Given the description of an element on the screen output the (x, y) to click on. 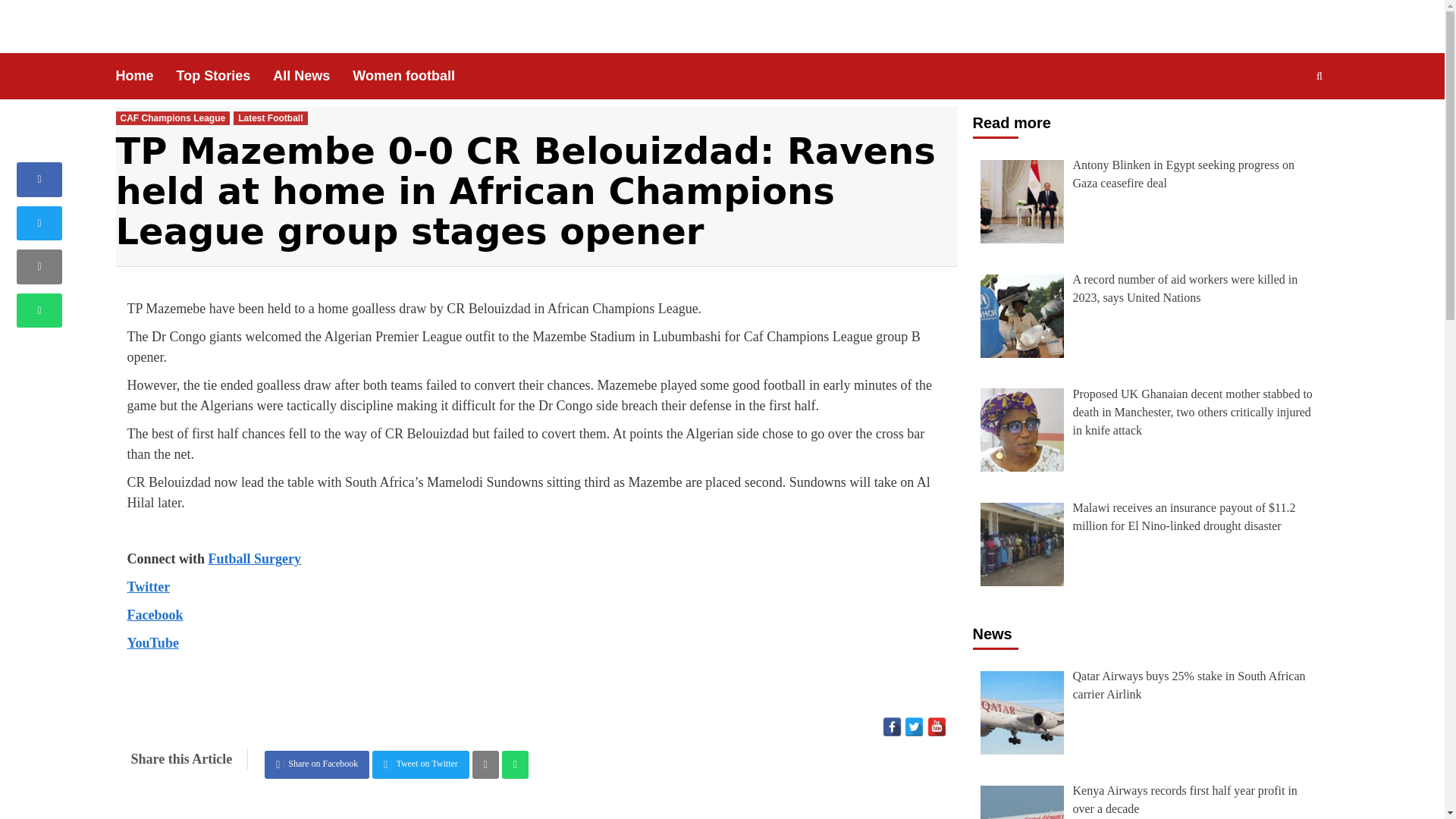
Top Stories (224, 76)
Women football (414, 76)
YouTube (935, 726)
Search (1283, 124)
CAF Champions League (172, 118)
Share by Email (485, 764)
All News (312, 76)
Futball Surgery (254, 558)
YouTube (153, 642)
